Given the description of an element on the screen output the (x, y) to click on. 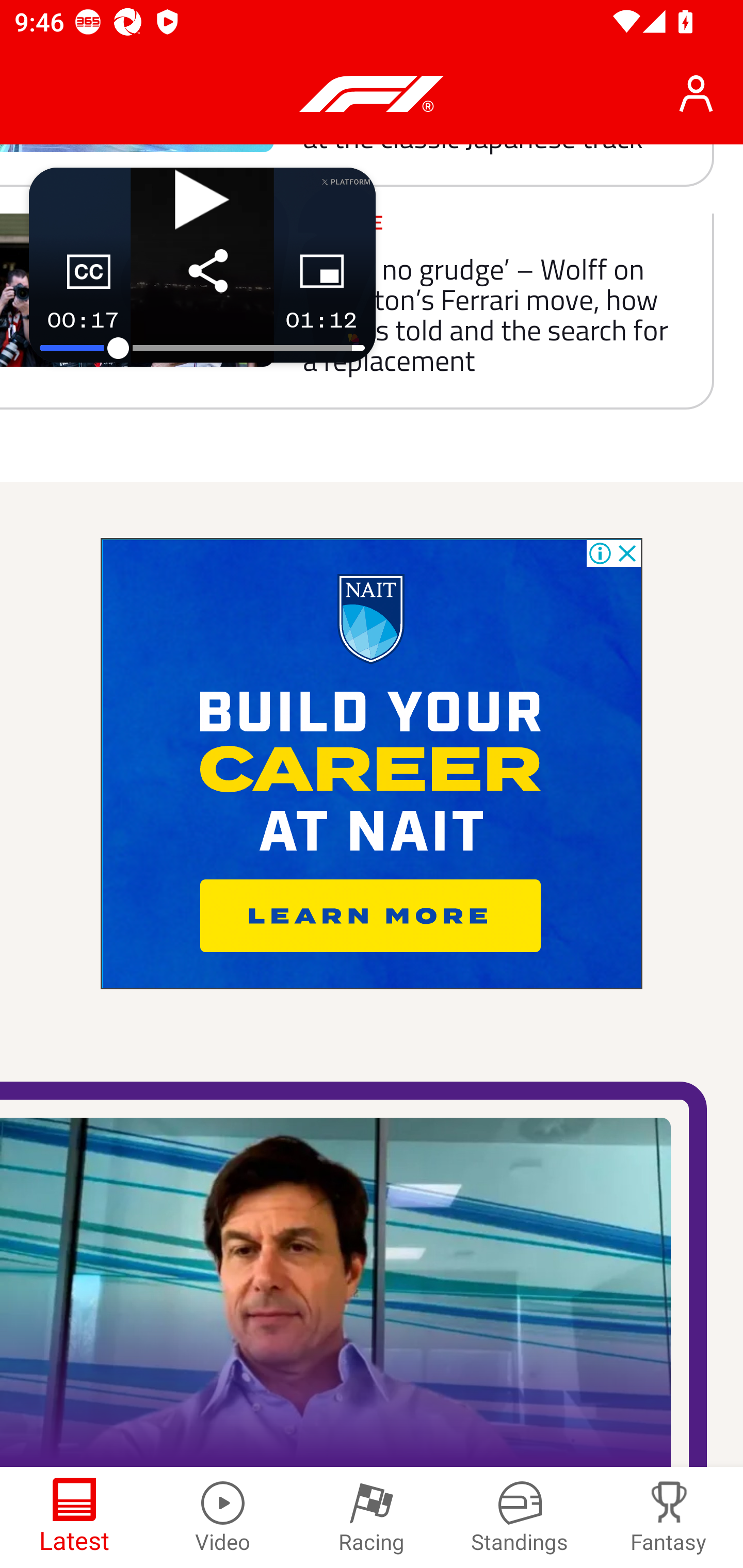
Video (222, 1517)
Racing (371, 1517)
Standings (519, 1517)
Fantasy (668, 1517)
